Given the description of an element on the screen output the (x, y) to click on. 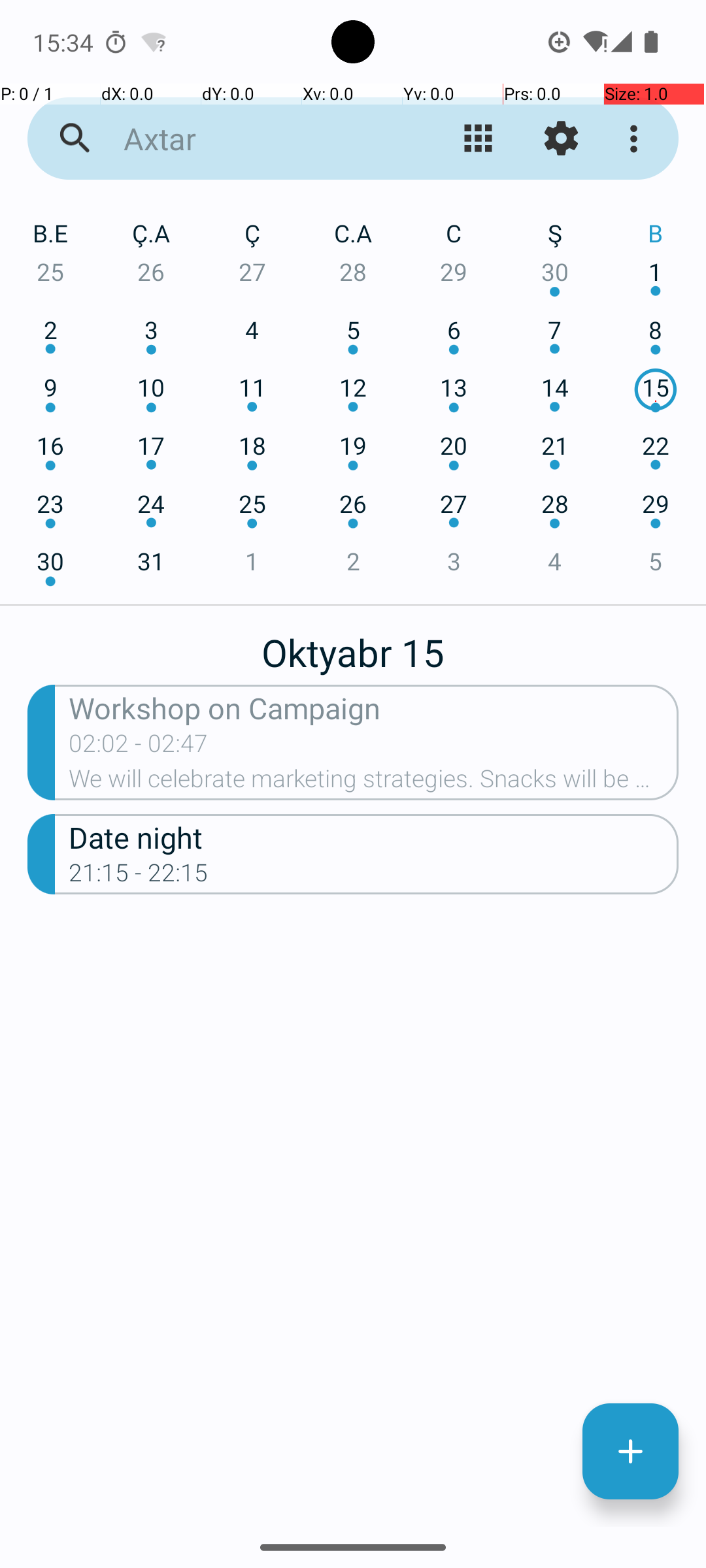
Oktyabr 15 Element type: android.widget.TextView (352, 644)
02:02 - 02:47 Element type: android.widget.TextView (137, 747)
We will celebrate marketing strategies. Snacks will be provided. Element type: android.widget.TextView (373, 782)
Date night Element type: android.widget.TextView (373, 836)
21:15 - 22:15 Element type: android.widget.TextView (137, 876)
